Given the description of an element on the screen output the (x, y) to click on. 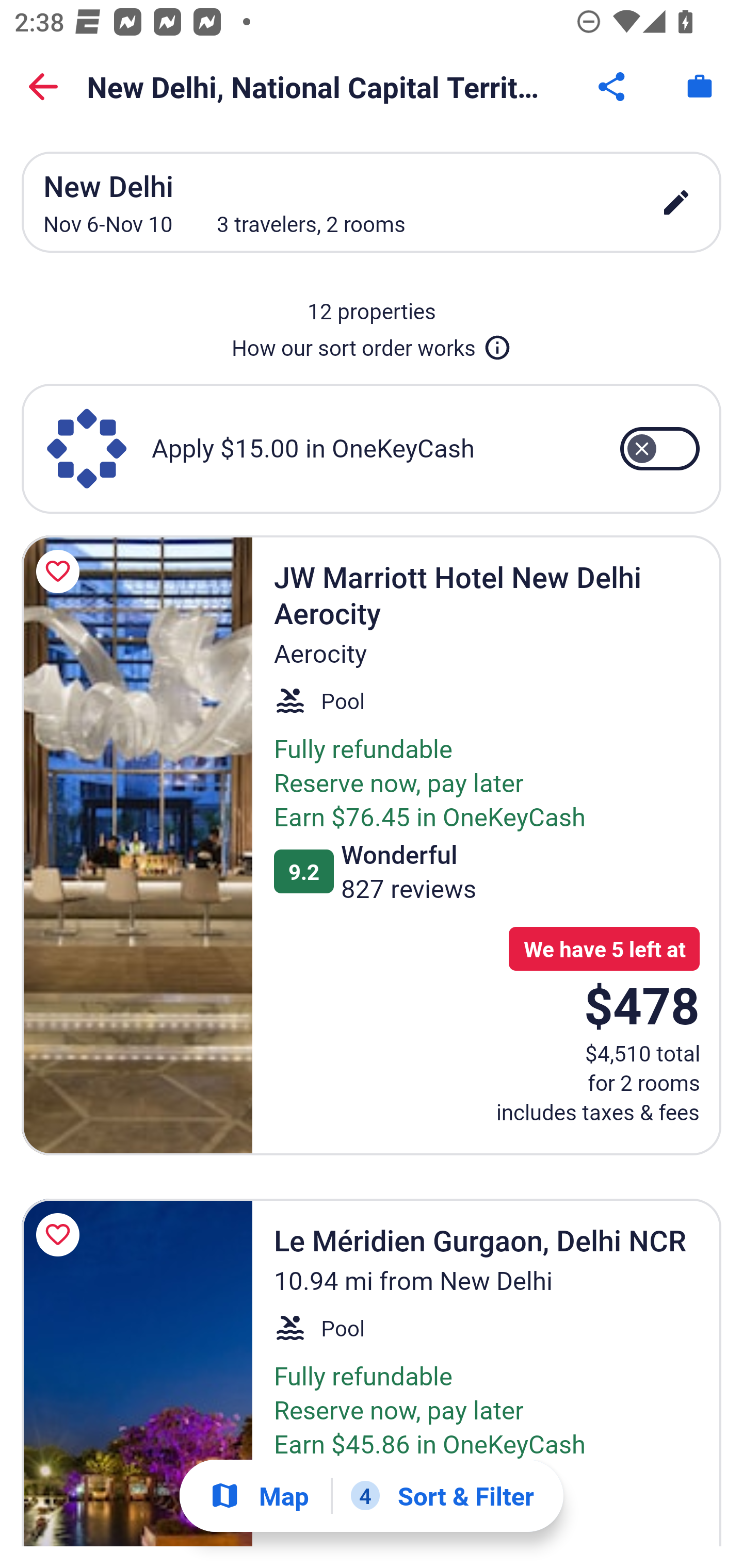
Back (43, 86)
Share Button (612, 86)
Trips. Button (699, 86)
New Delhi Nov 6-Nov 10 3 travelers, 2 rooms edit (371, 202)
How our sort order works (371, 344)
JW Marriott Hotel New Delhi Aerocity (136, 844)
Save Le Méridien Gurgaon, Delhi NCR to a trip (61, 1234)
Le Méridien Gurgaon, Delhi NCR (136, 1371)
4 Sort & Filter 4 Filters applied. Filters Button (442, 1495)
Show map Map Show map Button (258, 1495)
